Given the description of an element on the screen output the (x, y) to click on. 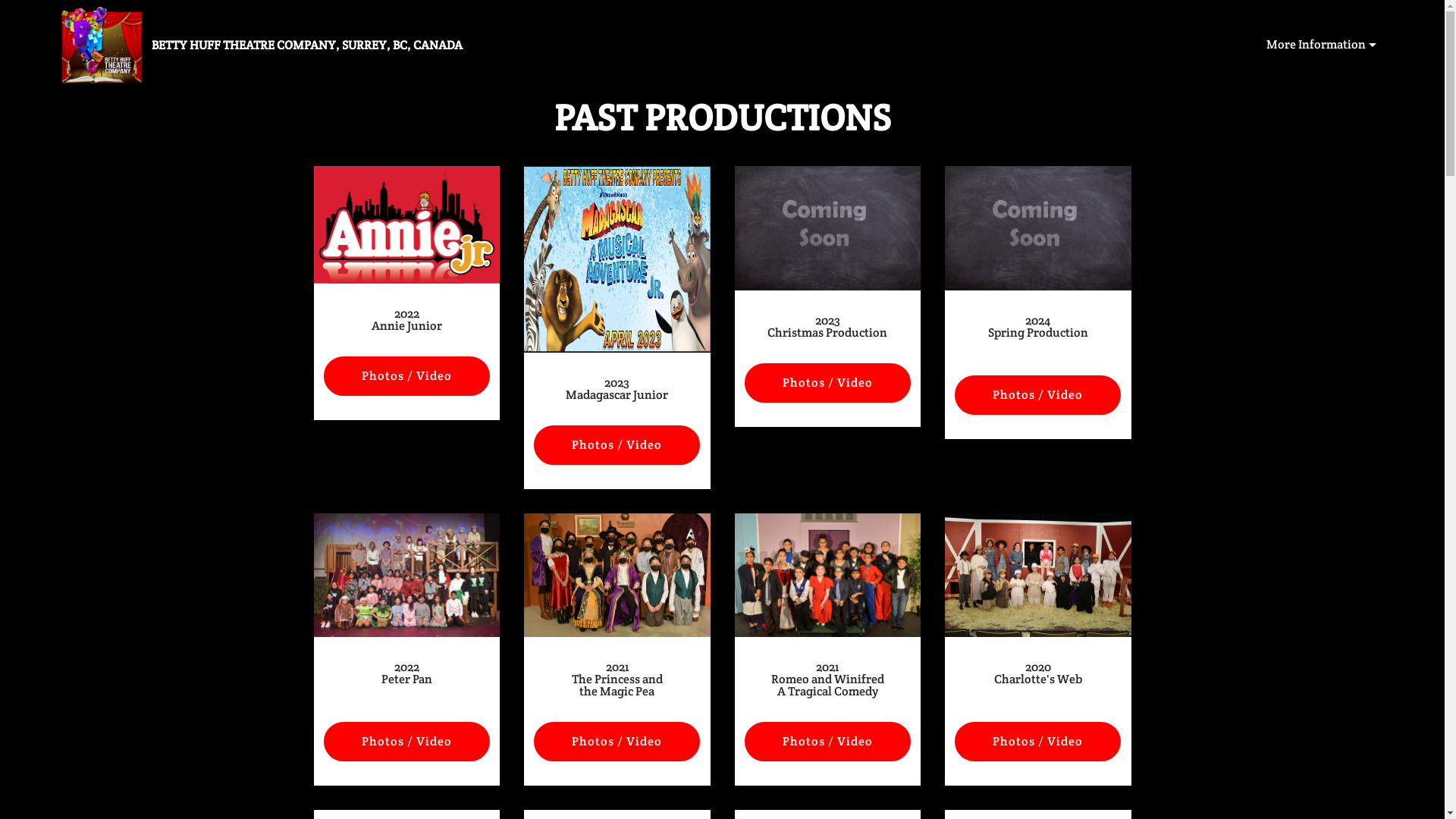
BETTY HUFF THEATRE COMPANY, SURREY, BC, CANADA Element type: text (318, 44)
More Information Element type: text (1321, 44)
Photos / Video Element type: text (406, 375)
Photos / Video Element type: text (827, 382)
Photos / Video Element type: text (1037, 394)
Photos / Video Element type: text (1037, 741)
Photos / Video Element type: text (827, 741)
Photos / Video Element type: text (616, 741)
Photos / Video Element type: text (406, 741)
Photos / Video Element type: text (616, 444)
